Given the description of an element on the screen output the (x, y) to click on. 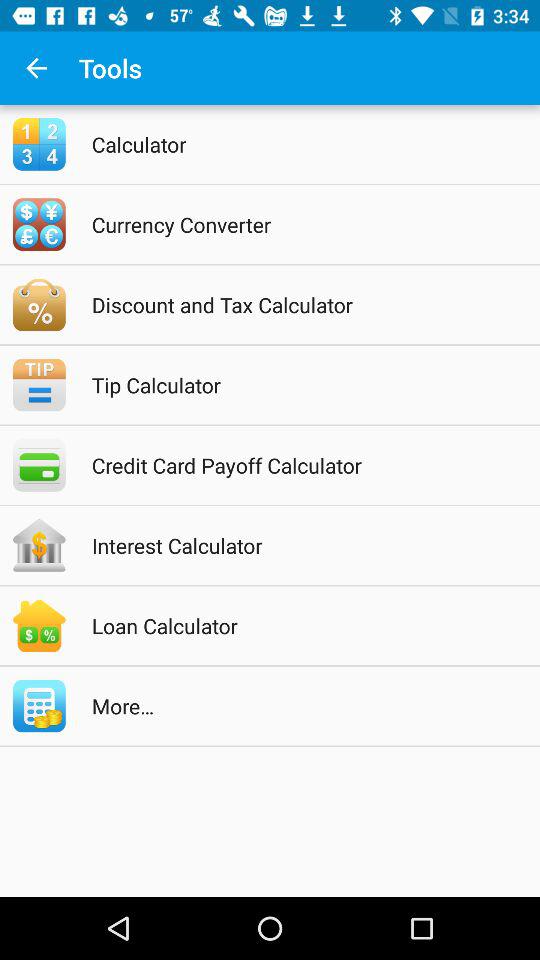
turn off interest calculator item (295, 545)
